Given the description of an element on the screen output the (x, y) to click on. 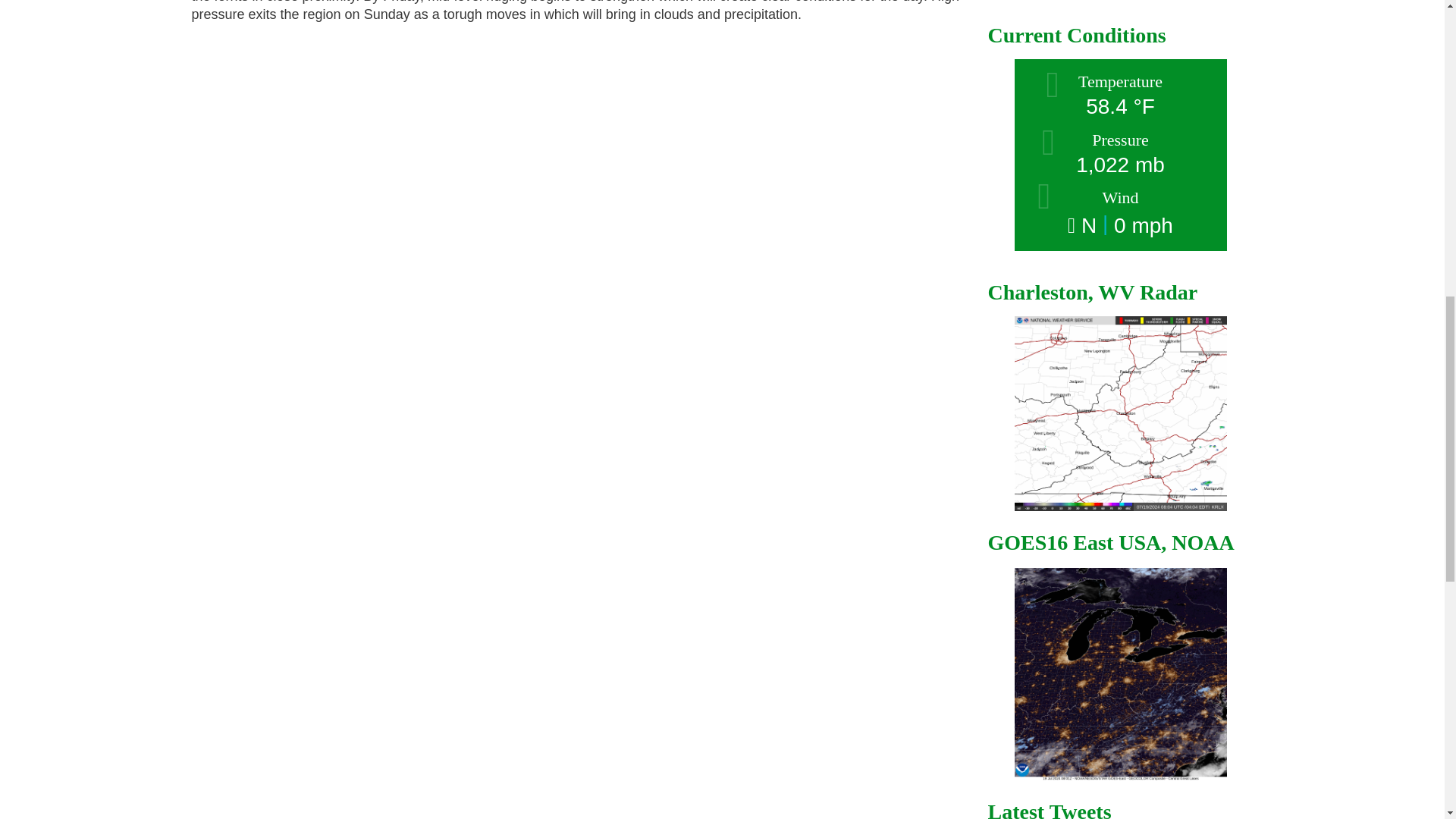
Click to see more detailed information! (1119, 154)
